Given the description of an element on the screen output the (x, y) to click on. 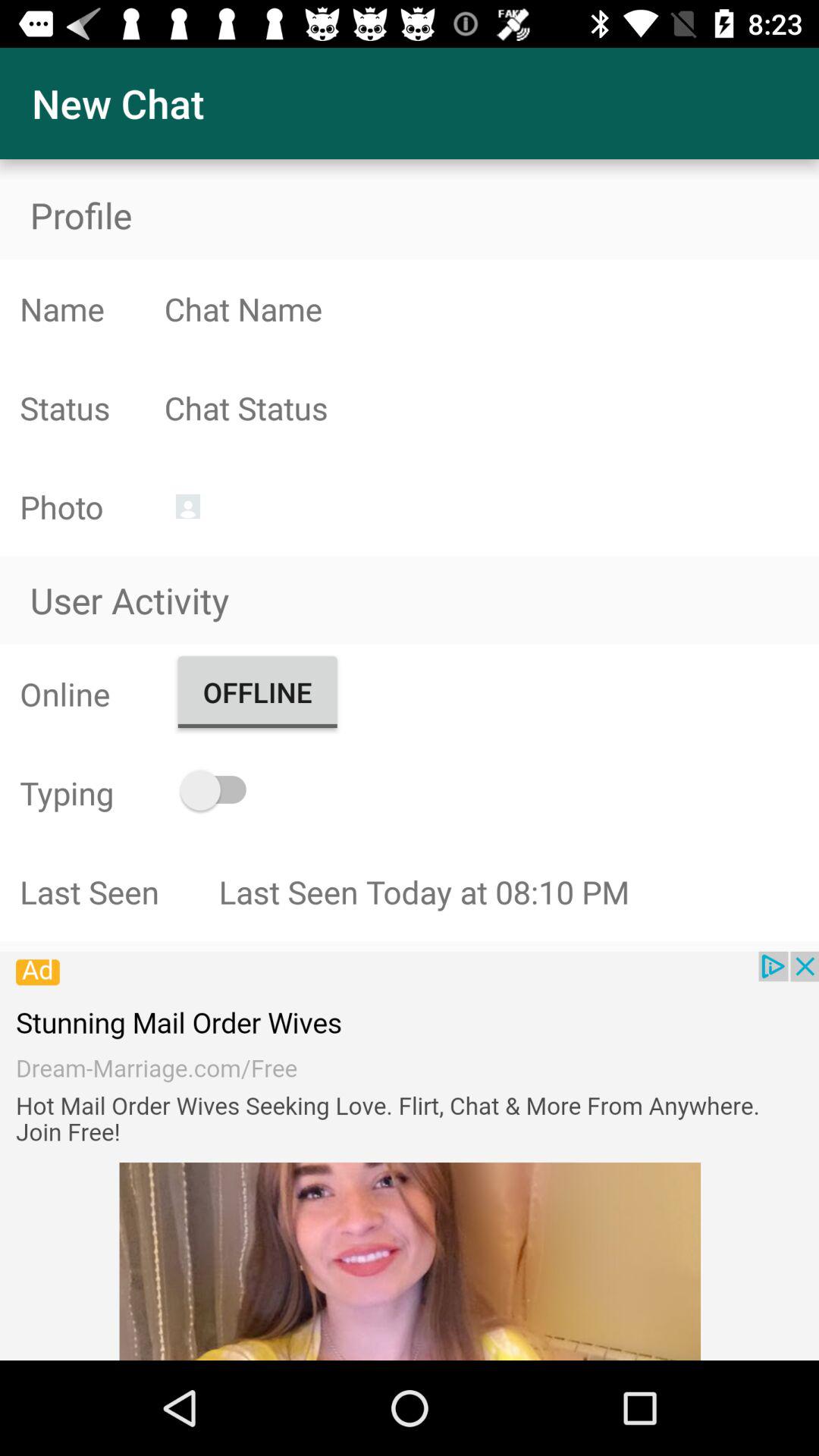
enable typing (220, 789)
